Given the description of an element on the screen output the (x, y) to click on. 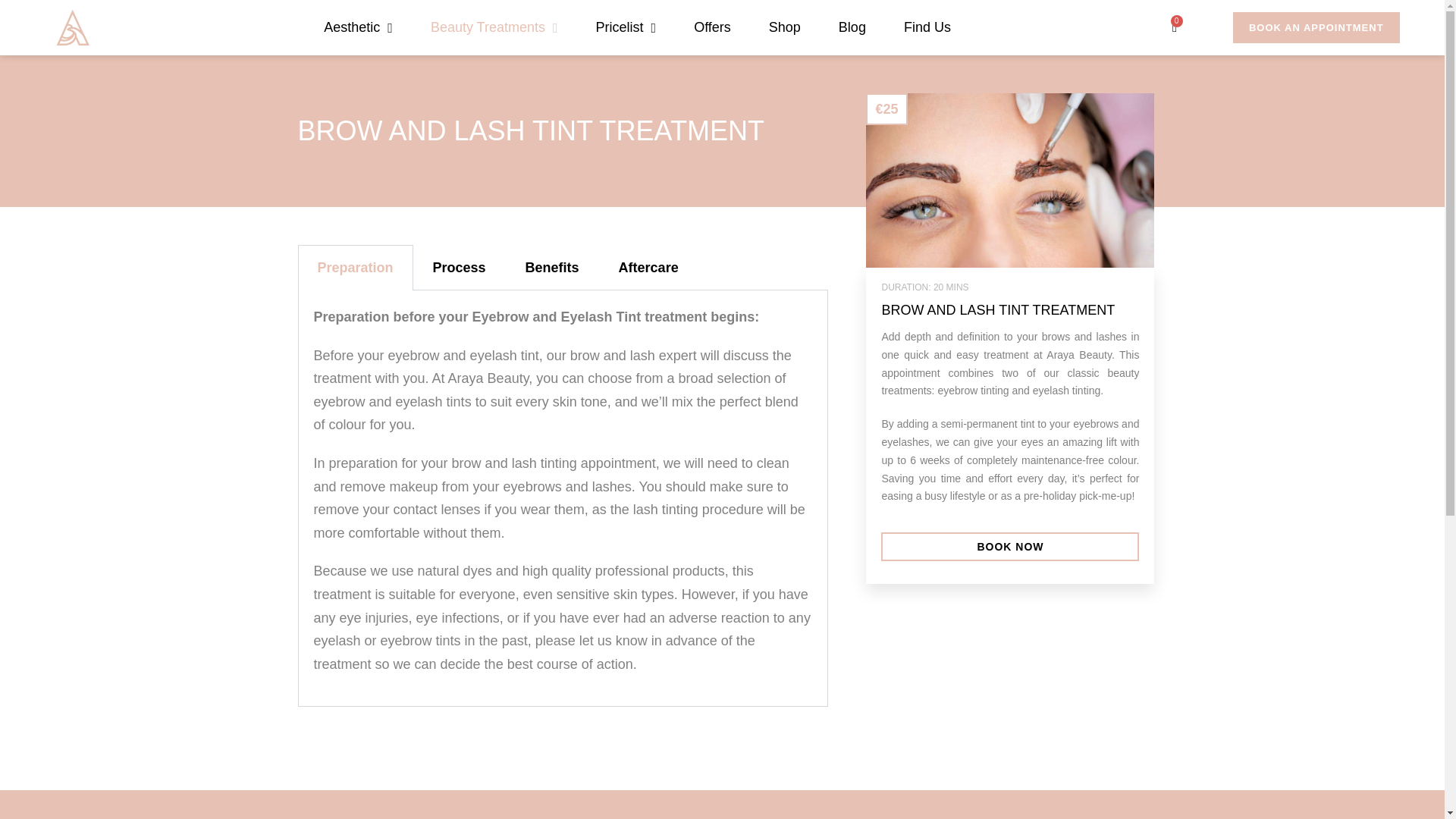
Aesthetic (357, 27)
Beauty Treatments (494, 27)
